Given the description of an element on the screen output the (x, y) to click on. 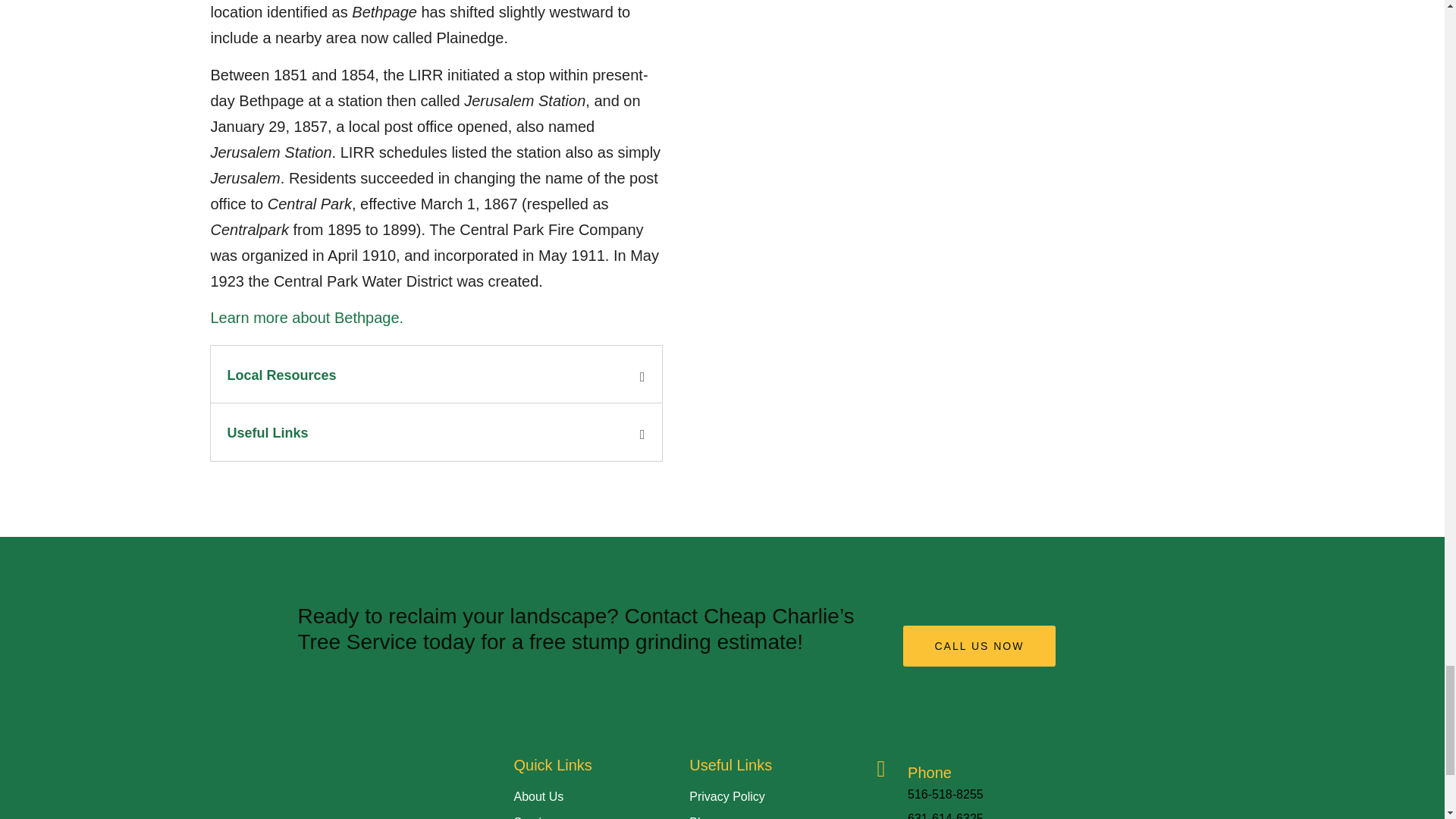
Local Resources (281, 375)
Learn more about Bethpage. (307, 317)
